Given the description of an element on the screen output the (x, y) to click on. 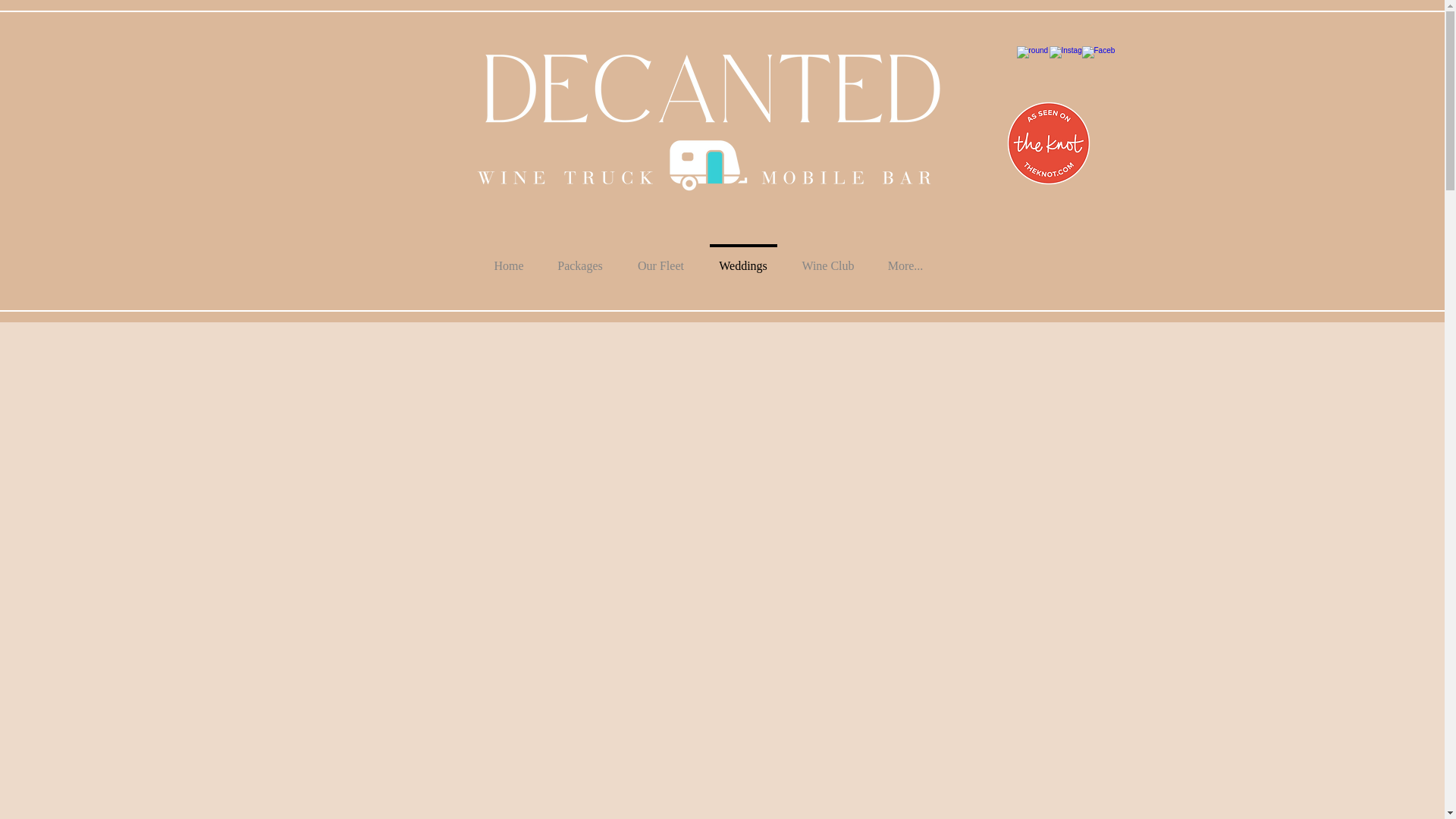
Our Fleet (660, 259)
Weddings (742, 259)
Packages (580, 259)
Home (508, 259)
Final Master Artwork outline Decanted 4. (707, 122)
Wine Club (827, 259)
